Given the description of an element on the screen output the (x, y) to click on. 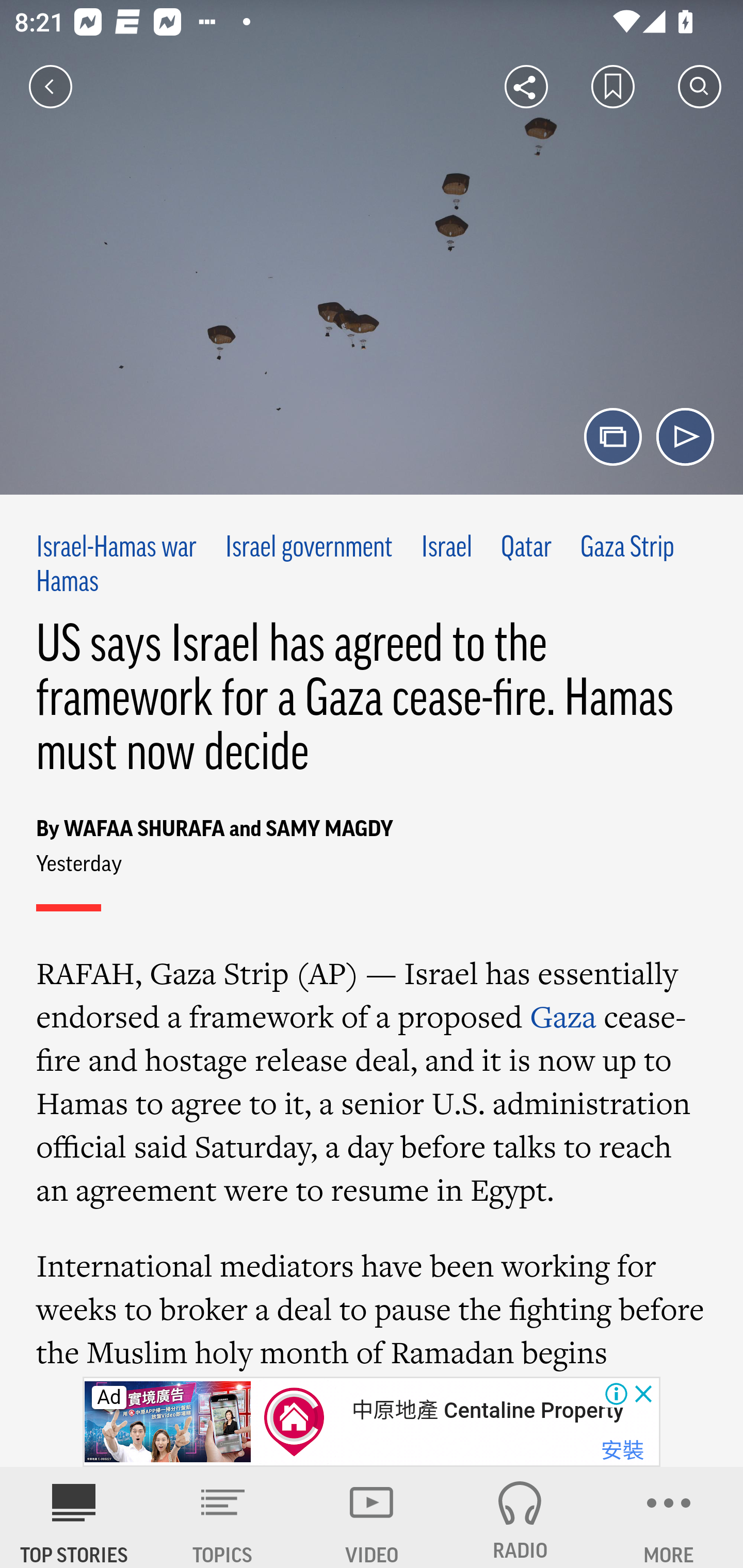
Israel-Hamas war (117, 548)
Israel government (308, 548)
Israel (446, 548)
Qatar (526, 548)
Gaza Strip (627, 548)
Hamas (67, 582)
Gaza (563, 1016)
中原地產 Centaline Property (486, 1410)
安裝 (621, 1450)
AP News TOP STORIES (74, 1517)
TOPICS (222, 1517)
VIDEO (371, 1517)
RADIO (519, 1517)
MORE (668, 1517)
